Given the description of an element on the screen output the (x, y) to click on. 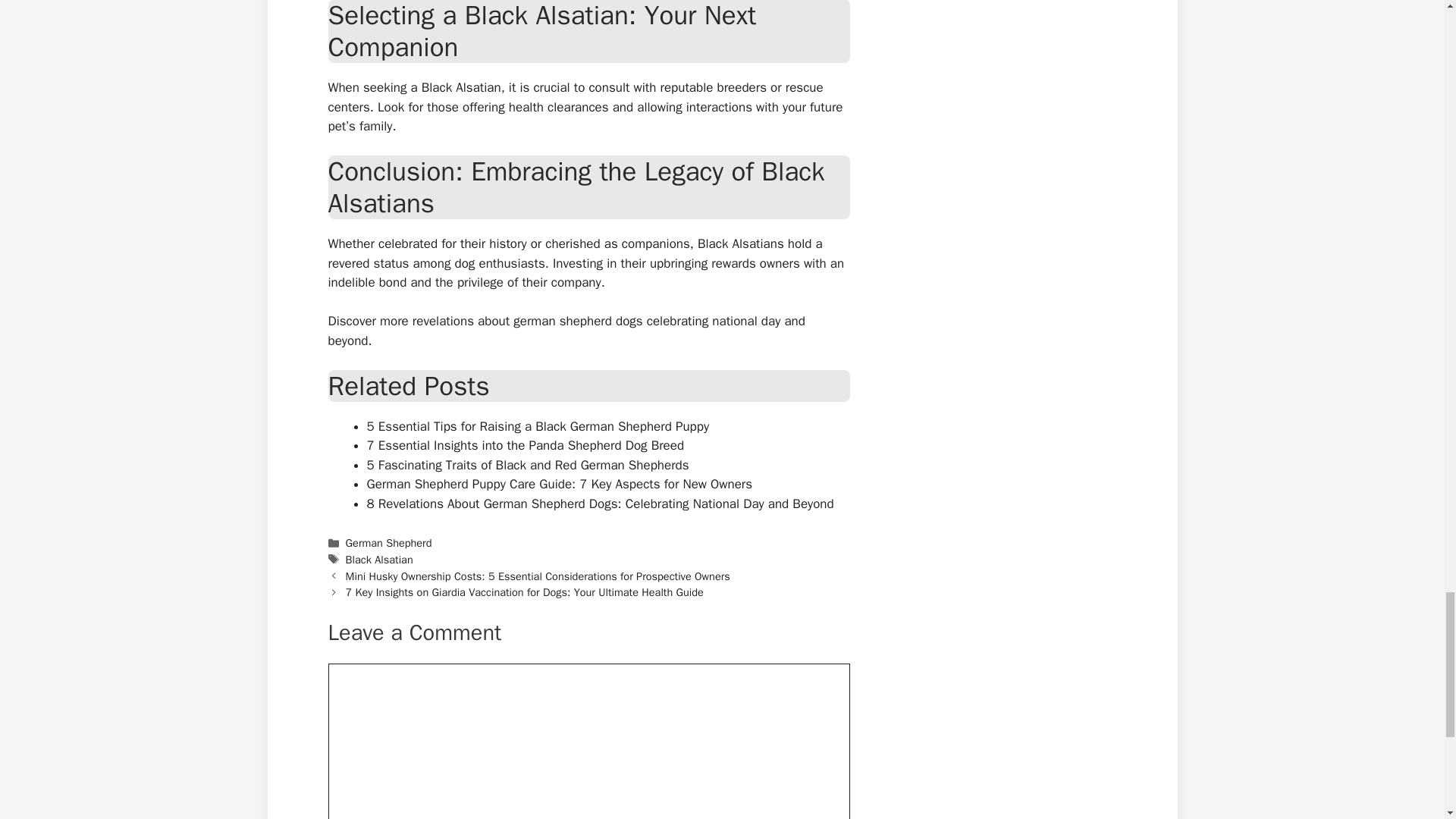
5 Essential Tips for Raising a Black German Shepherd Puppy (538, 426)
Black Alsatian (379, 559)
5 Fascinating Traits of Black and Red German Shepherds (527, 465)
German Shepherd (389, 542)
7 Essential Insights into the Panda Shepherd Dog Breed (525, 445)
